Given the description of an element on the screen output the (x, y) to click on. 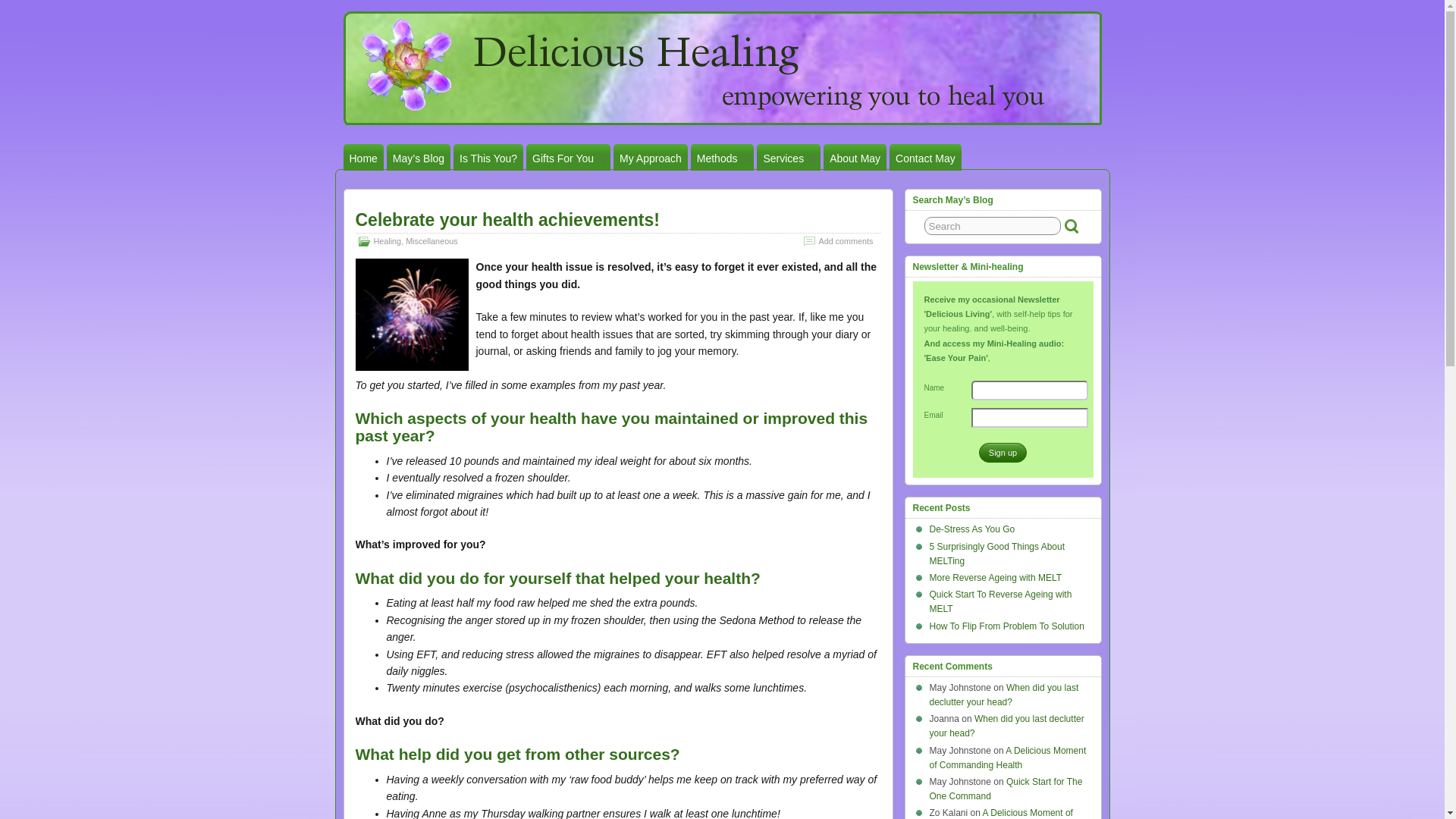
Is This You? (487, 157)
Quick Start To Reverse Ageing with MELT (1000, 601)
Contact May (924, 157)
Celebrate your health achievements! (507, 219)
Healing (386, 240)
Miscellaneous (431, 240)
Search (992, 226)
 Methods (722, 157)
 Gifts For You (567, 157)
Celebrate your health achievements! (507, 219)
